Given the description of an element on the screen output the (x, y) to click on. 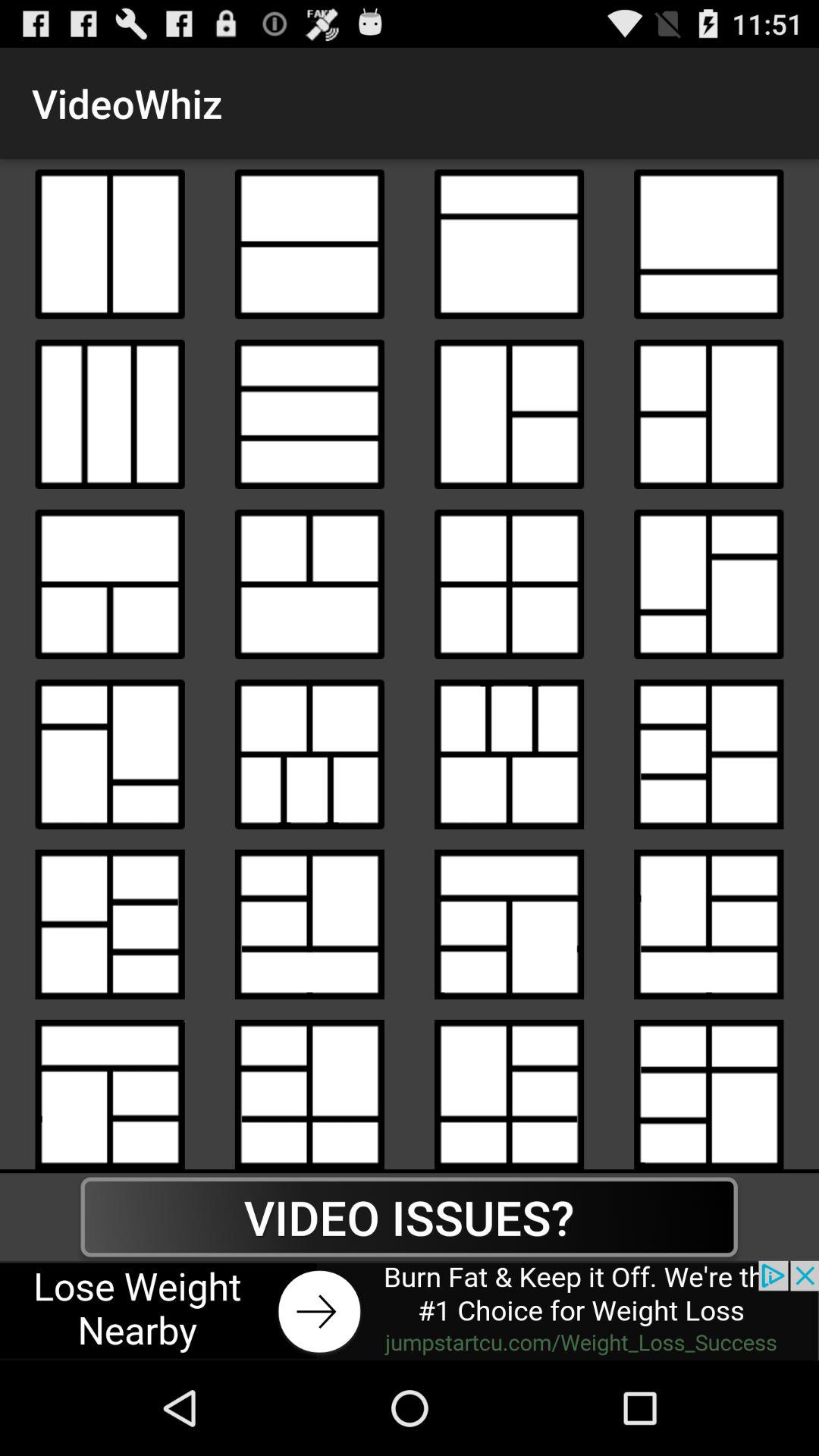
model of grid (509, 414)
